Given the description of an element on the screen output the (x, y) to click on. 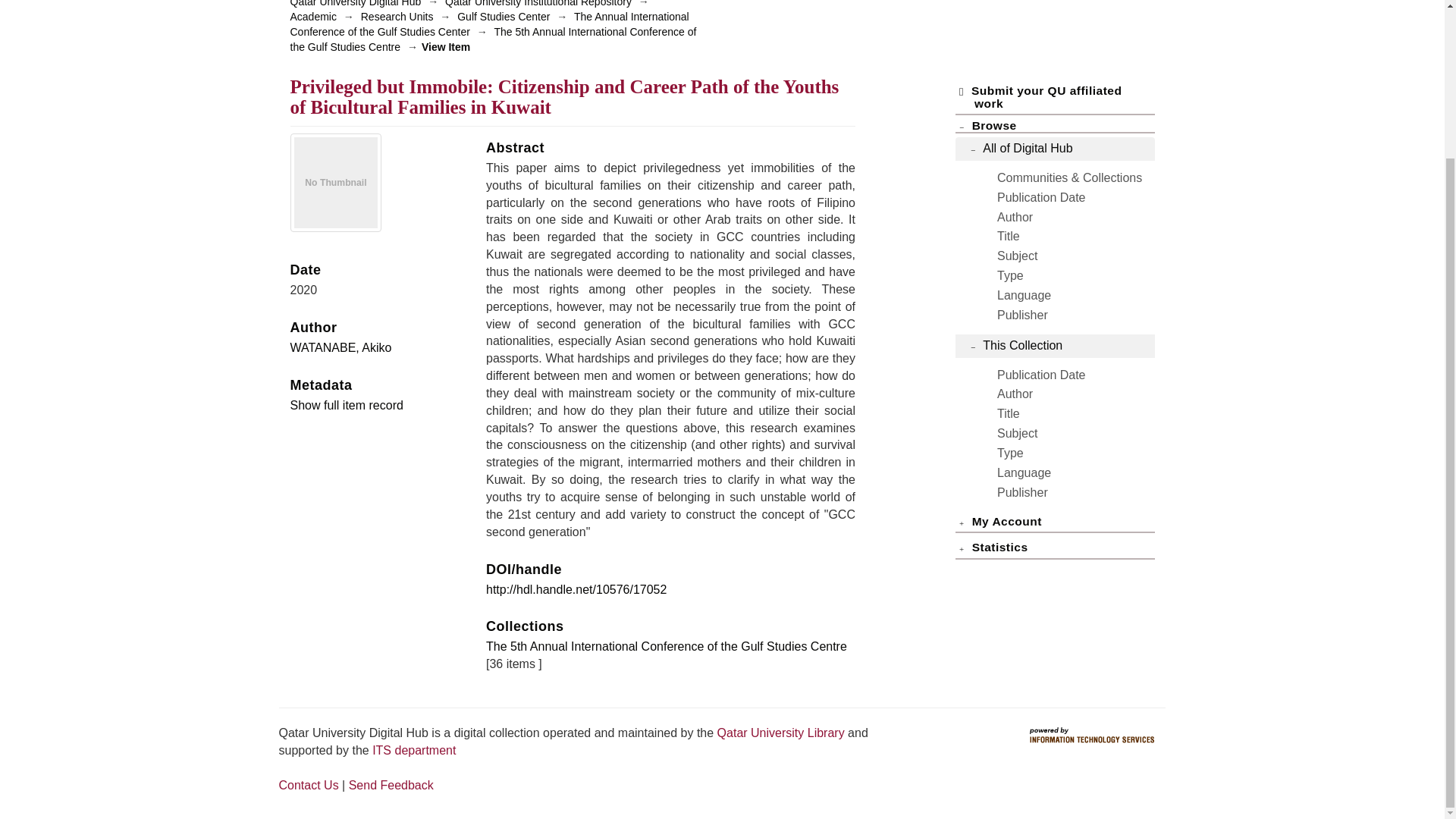
Research Units (397, 16)
Qatar University ITs  (413, 749)
Qatar University Library Homepage (782, 732)
Qatar University Digital Hub (354, 3)
Academic (312, 16)
Gulf Studies Center (503, 16)
Qatar University Institutional Repository (538, 3)
